Given the description of an element on the screen output the (x, y) to click on. 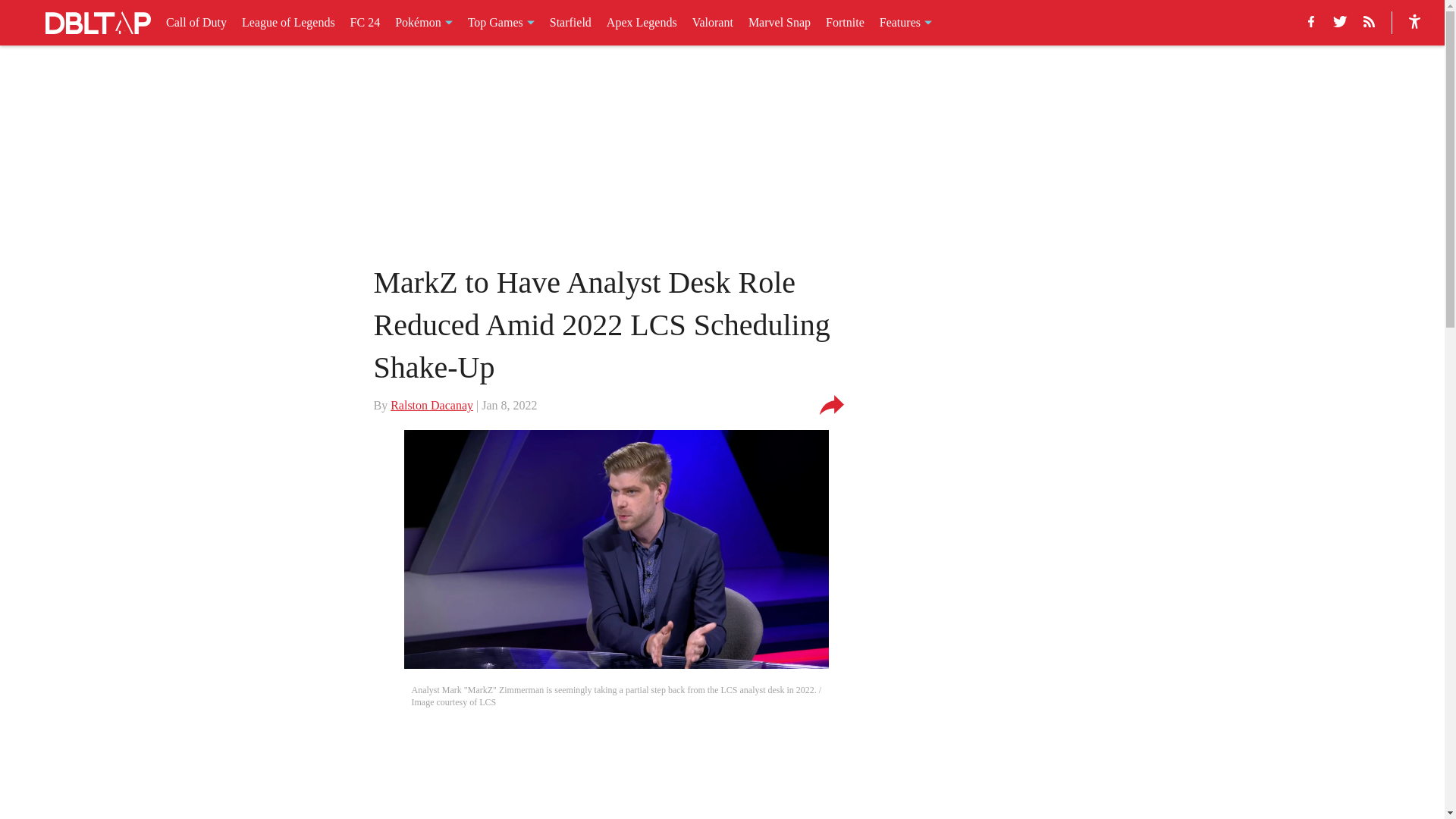
League of Legends (287, 22)
Ralston Dacanay (431, 404)
Valorant (713, 22)
Fortnite (844, 22)
Call of Duty (196, 22)
Top Games (500, 22)
Marvel Snap (779, 22)
Starfield (570, 22)
Features (905, 22)
FC 24 (365, 22)
Apex Legends (642, 22)
